Given the description of an element on the screen output the (x, y) to click on. 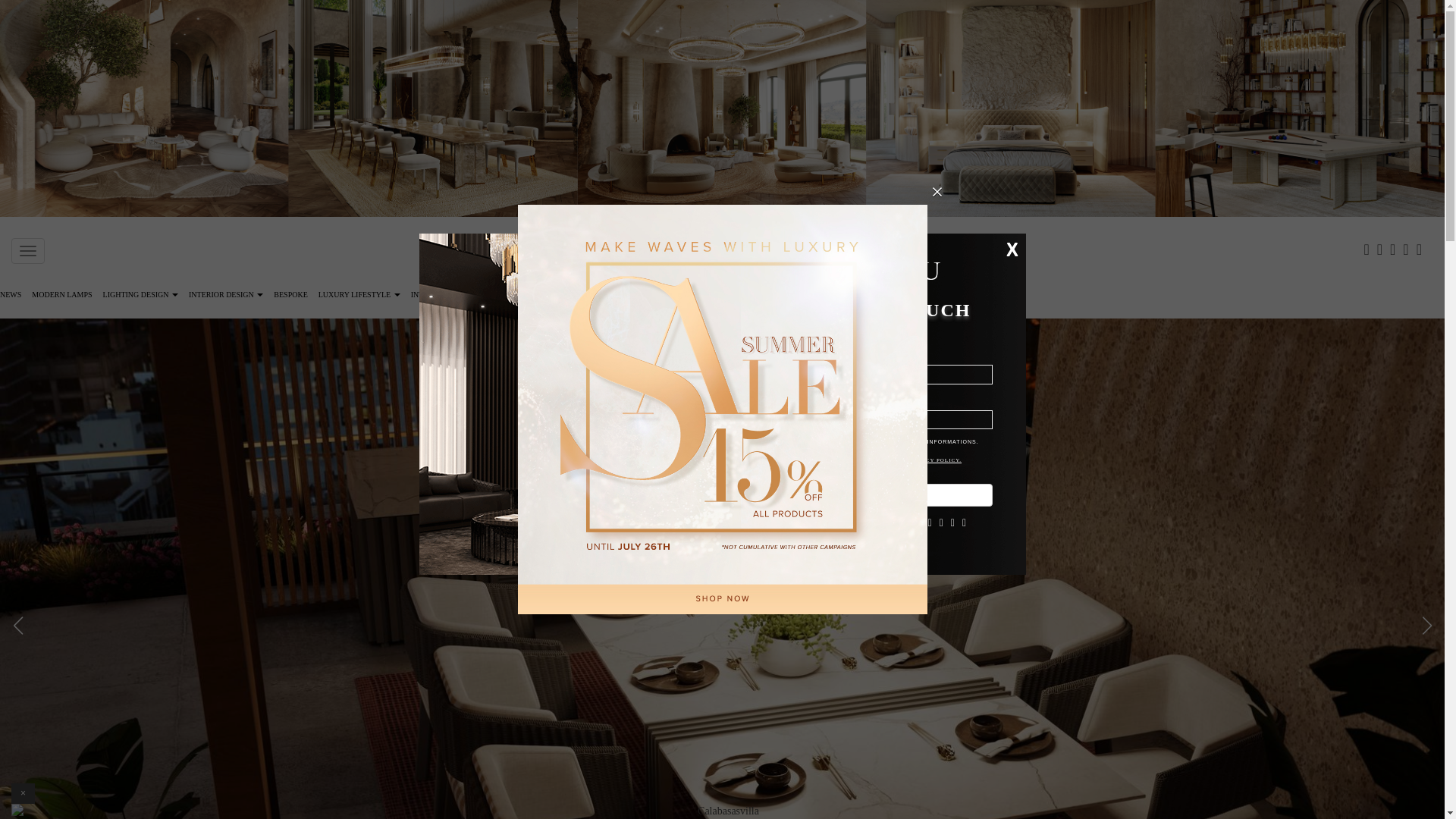
LIGHTING DESIGN (140, 296)
on (790, 441)
Submit (889, 495)
PRIVACY POLICY. (933, 460)
on (588, 342)
UNLOCK IT NOW (722, 370)
X (1011, 249)
Modern Lamps (61, 296)
NEWS (13, 296)
MODERN LAMPS (61, 296)
Toggle navigation (28, 250)
News (13, 296)
INTERIOR DESIGN (225, 296)
Luxury Lifestyle (359, 296)
